Given the description of an element on the screen output the (x, y) to click on. 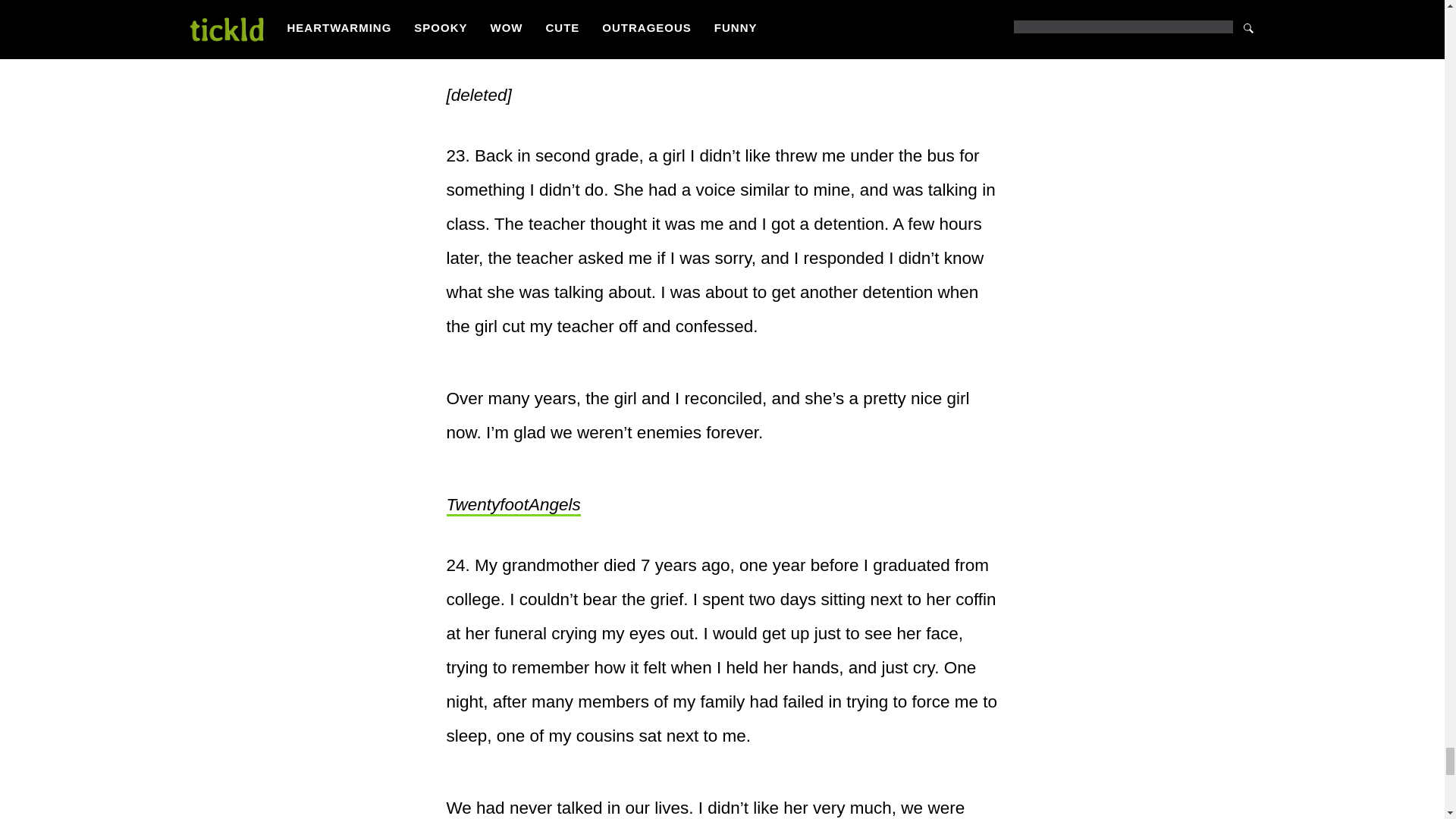
TwentyfootAngels (512, 505)
